Given the description of an element on the screen output the (x, y) to click on. 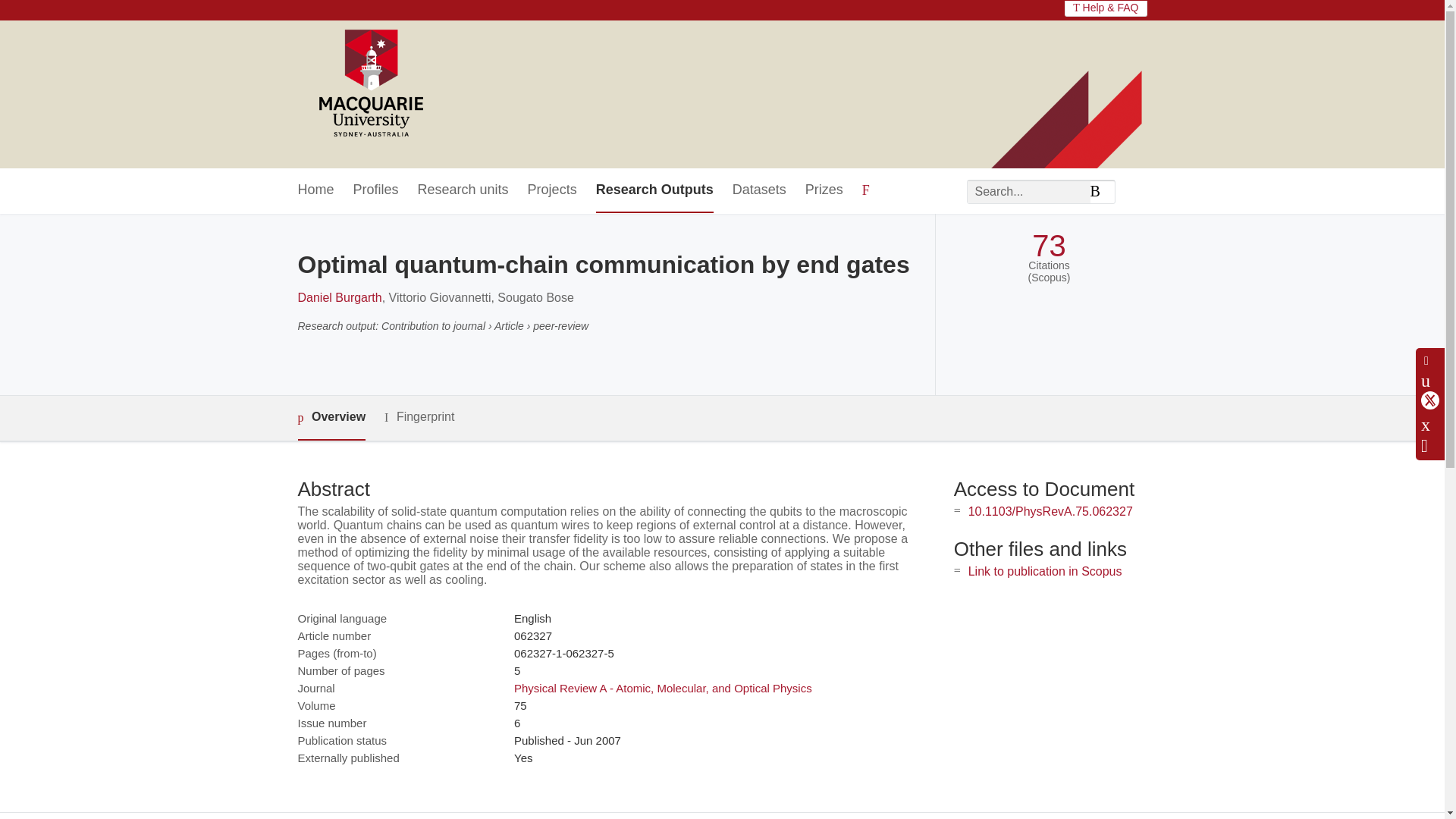
Daniel Burgarth (339, 297)
Physical Review A - Atomic, Molecular, and Optical Physics (662, 687)
Research Outputs (654, 190)
73 (1048, 245)
Link to publication in Scopus (1045, 571)
Research units (462, 190)
Fingerprint (419, 416)
Datasets (759, 190)
Overview (331, 417)
